Given the description of an element on the screen output the (x, y) to click on. 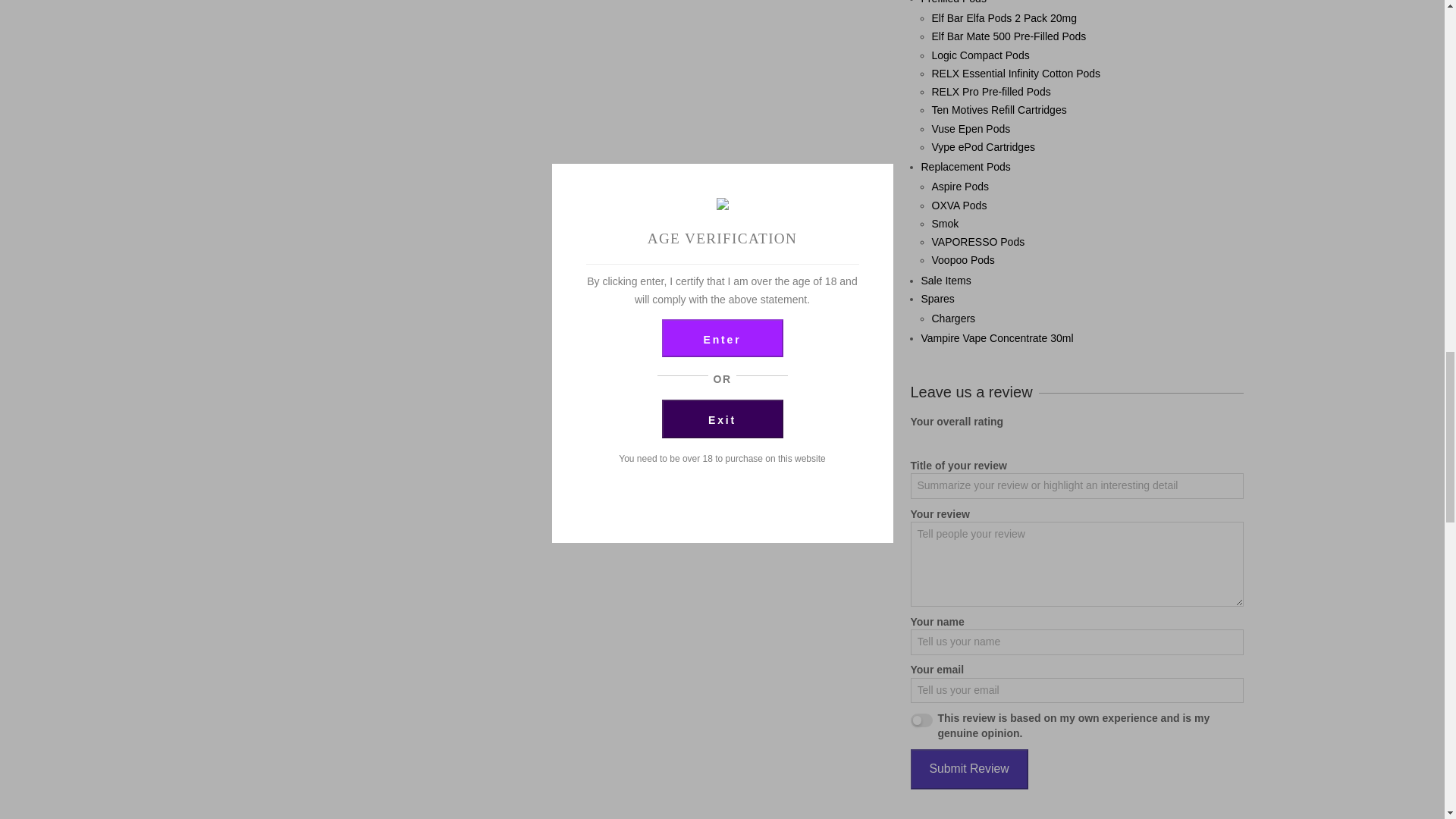
1 (920, 720)
